Given the description of an element on the screen output the (x, y) to click on. 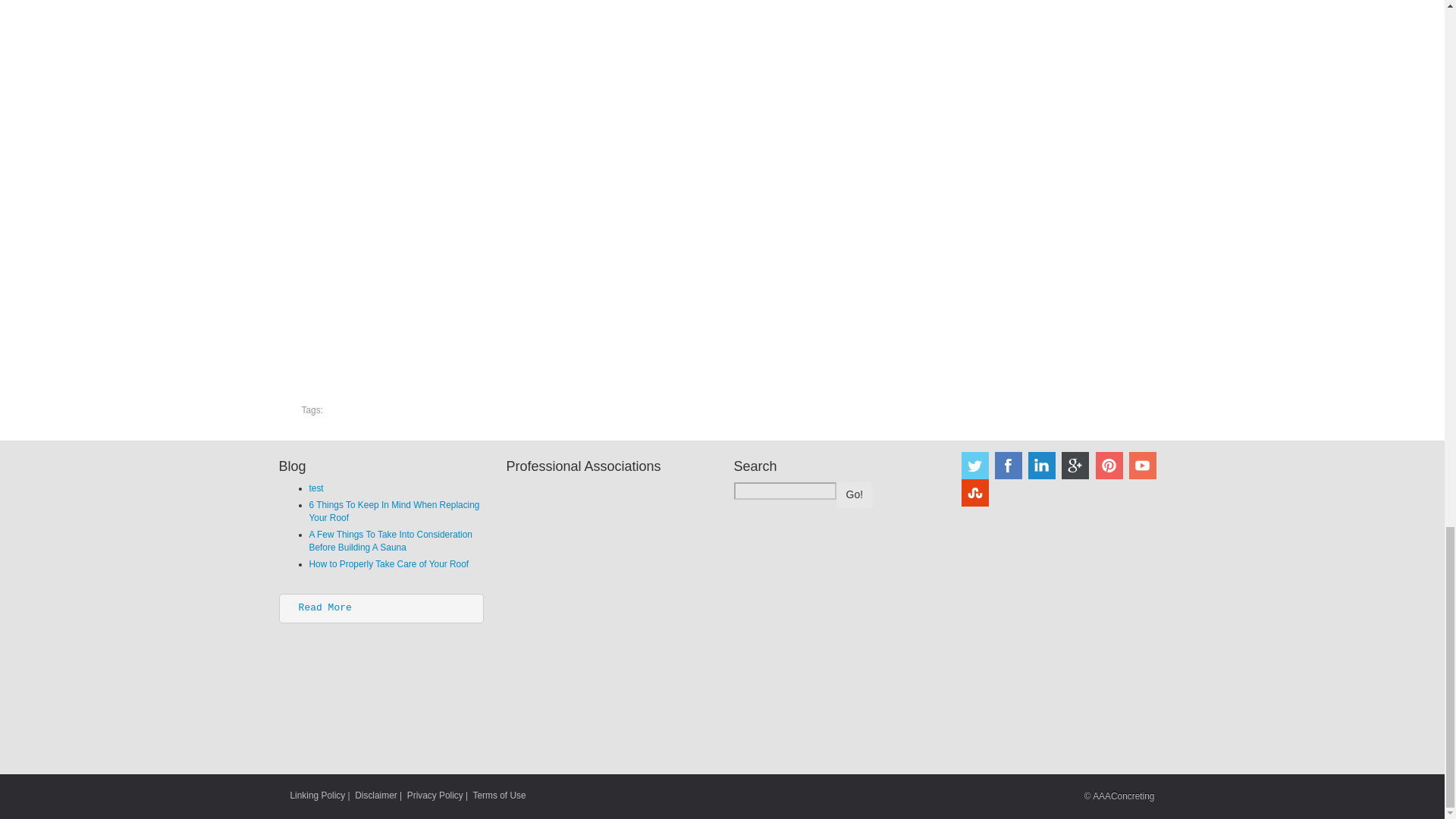
How to Properly Take Care of Your Roof (388, 563)
test (315, 488)
Youtube (1142, 465)
6 Things To Keep In Mind When Replacing Your Roof (394, 511)
Facebook (1008, 465)
Pinterest (1109, 465)
Go! (853, 494)
Linkedin (1041, 465)
Linking Policy (317, 795)
Read More (325, 607)
Twitter (974, 465)
Disclaimer (376, 795)
Google Plus (1075, 465)
Stumble upon (974, 492)
